Given the description of an element on the screen output the (x, y) to click on. 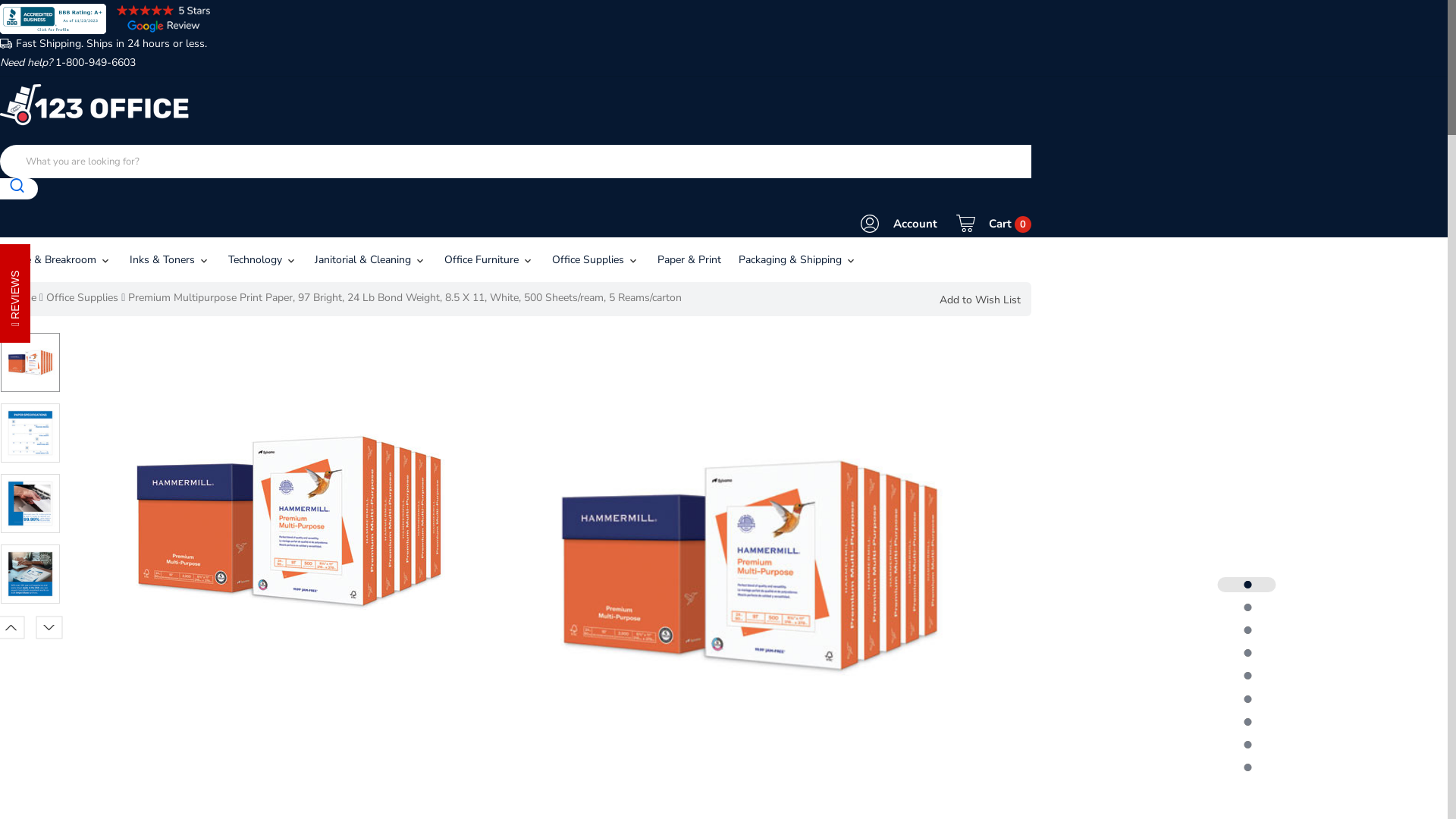
7 Element type: text (1247, 721)
Paper & Print Element type: text (689, 259)
Account Element type: text (898, 223)
5 Element type: text (1247, 675)
4 Element type: text (1247, 652)
Home Element type: text (21, 297)
Coffee & Breakroom Element type: text (60, 259)
8 Element type: text (1247, 744)
Inks & Toners Element type: text (169, 259)
Next Element type: text (47, 628)
123office.com Element type: hover (94, 104)
1 Element type: text (1247, 584)
Fast Shipping. Ships in 24 hours or less. Element type: text (103, 43)
3 Element type: text (1247, 629)
Office Supplies Element type: text (82, 297)
Technology Element type: text (262, 259)
6 Element type: text (1247, 698)
Office Furniture Element type: text (488, 259)
9 Element type: text (1247, 767)
2 Element type: text (1247, 607)
Office Supplies Element type: text (595, 259)
Add to Wish List Element type: text (981, 299)
Cart 0 Element type: text (993, 223)
Janitorial & Cleaning Element type: text (370, 259)
Packaging & Shipping Element type: text (798, 259)
